Given the description of an element on the screen output the (x, y) to click on. 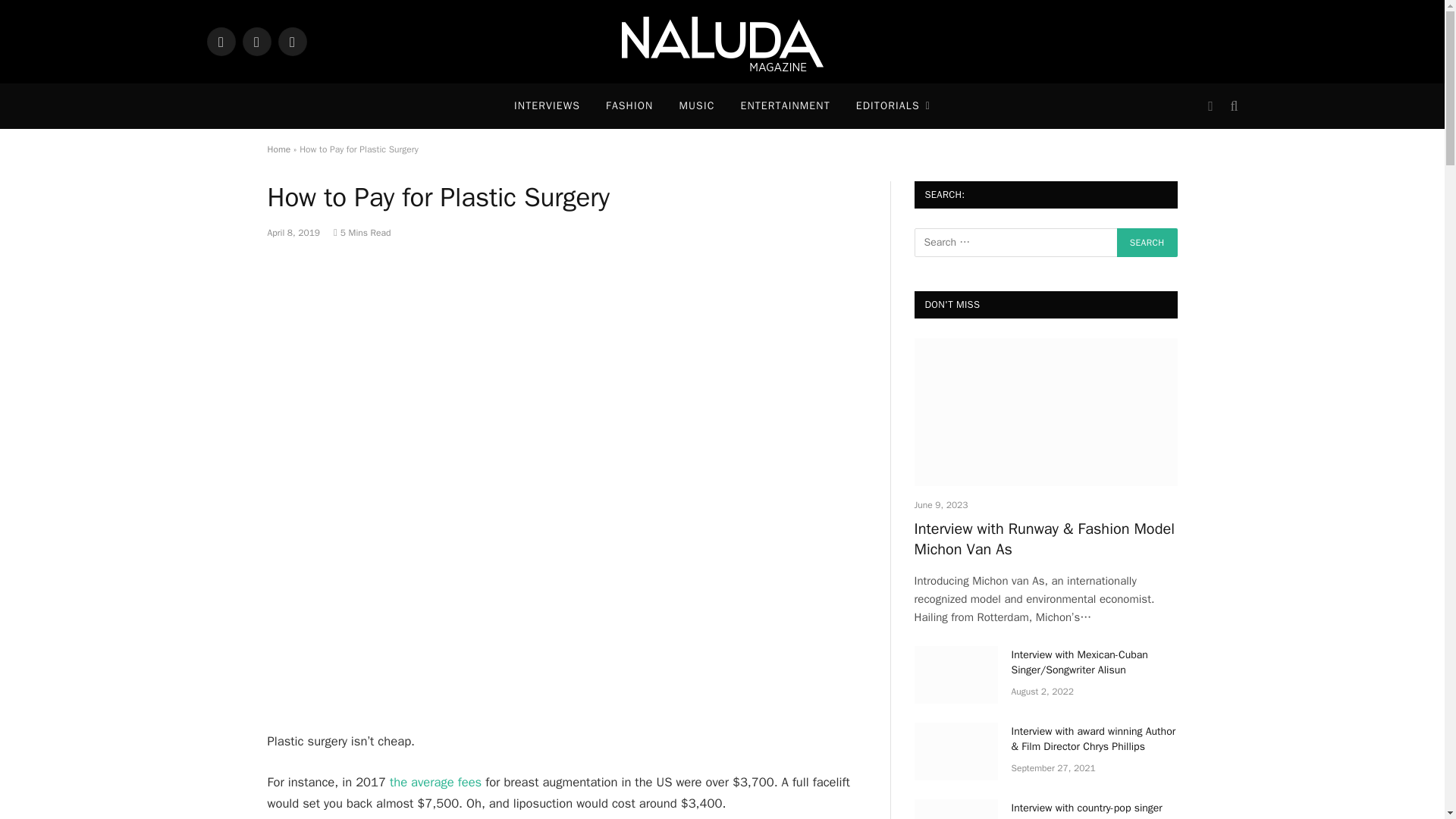
Naluda Magazine (721, 41)
FASHION (628, 105)
Search (1232, 106)
the average fees (435, 781)
MUSIC (695, 105)
EDITORIALS (893, 105)
Switch to Dark Design - easier on eyes. (1209, 106)
Home (277, 149)
ENTERTAINMENT (784, 105)
Search (1146, 242)
Facebook (256, 41)
INTERVIEWS (546, 105)
Search (1146, 242)
Instagram (220, 41)
